Given the description of an element on the screen output the (x, y) to click on. 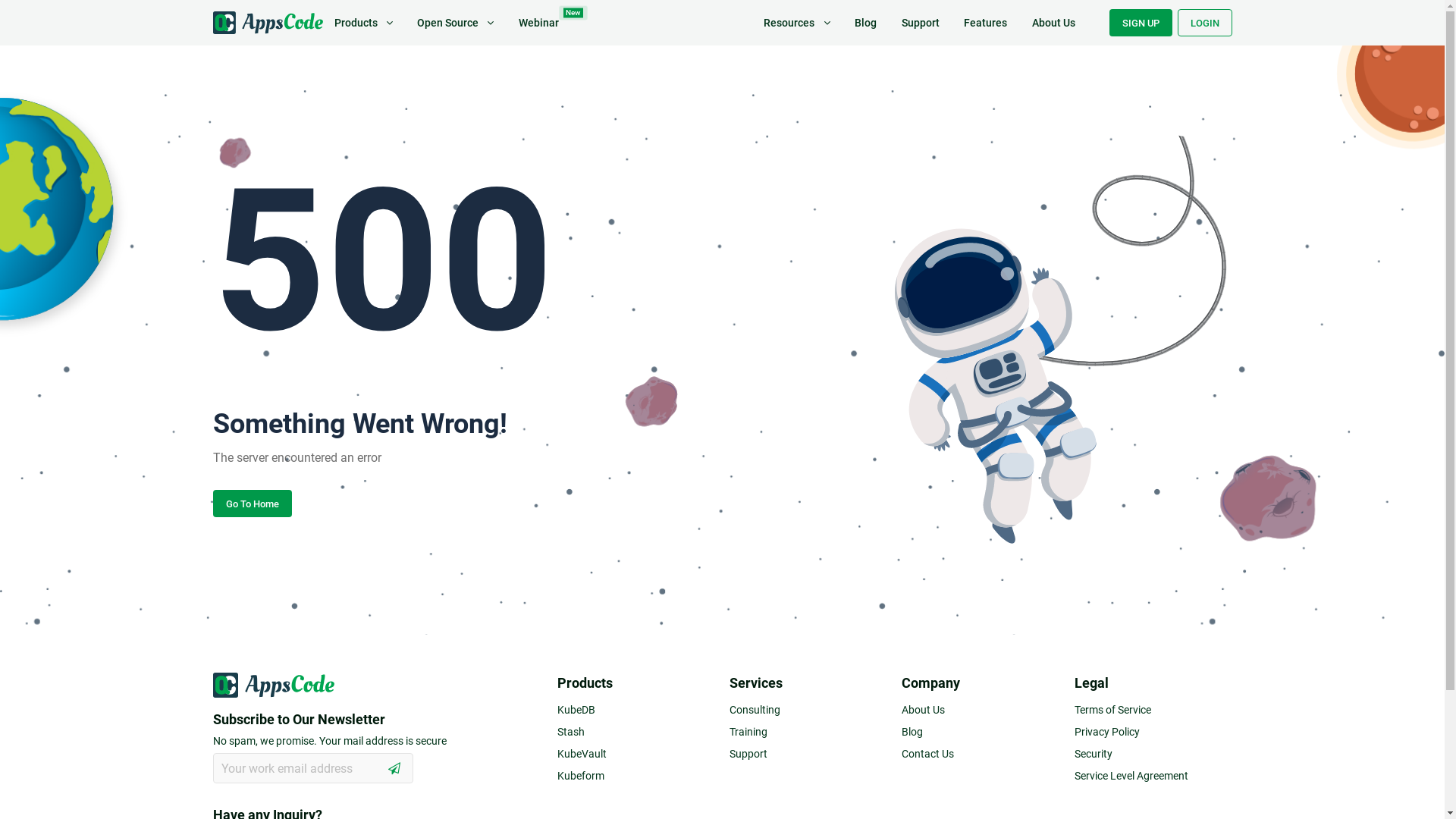
About Us Element type: text (1052, 22)
Blog Element type: text (865, 22)
SIGN UP Element type: text (1140, 22)
Open Source Element type: text (455, 22)
Consulting Element type: text (808, 707)
Service Level Agreement Element type: text (1153, 773)
Resources Element type: text (796, 22)
KubeVault Element type: text (636, 751)
Features Element type: text (985, 22)
Go To Home Element type: text (251, 503)
Security Element type: text (1153, 751)
About Us Element type: text (980, 707)
Support Element type: text (808, 751)
Webinar
New Element type: text (538, 22)
Stash Element type: text (636, 729)
Terms of Service Element type: text (1153, 707)
Products Element type: text (362, 22)
Privacy Policy Element type: text (1153, 729)
Kubeform Element type: text (636, 773)
Support Element type: text (919, 22)
Training Element type: text (808, 729)
Blog Element type: text (980, 729)
LOGIN Element type: text (1203, 22)
KubeDB Element type: text (636, 707)
Contact Us Element type: text (980, 751)
